Given the description of an element on the screen output the (x, y) to click on. 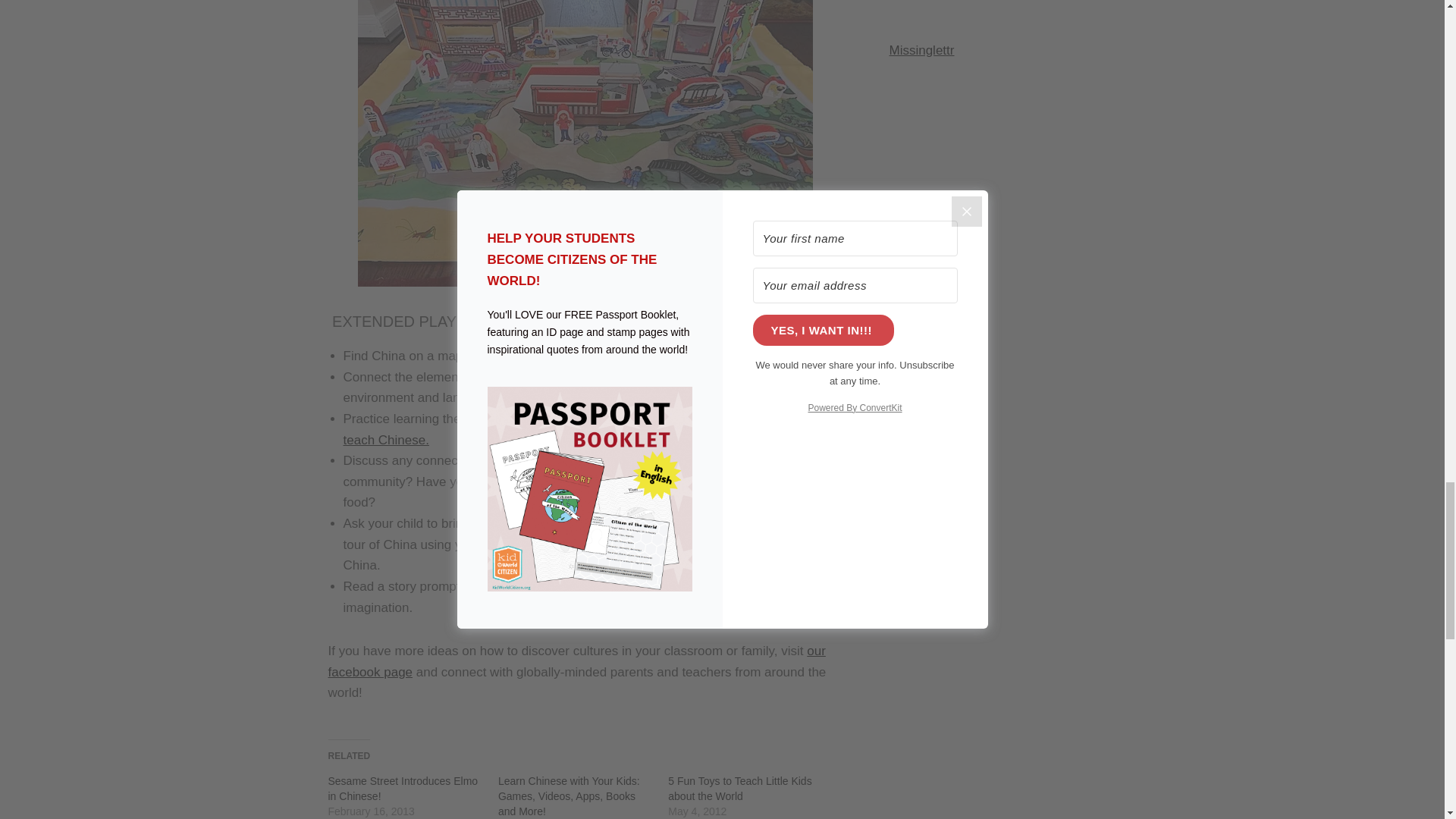
Sesame Street Introduces Elmo in Chinese! (402, 788)
read additional books that teach Chinese. (583, 429)
our facebook page (576, 661)
Sesame Street Introduces Elmo in Chinese! (402, 788)
5 Fun Toys to Teach Little Kids about the World (739, 788)
